Given the description of an element on the screen output the (x, y) to click on. 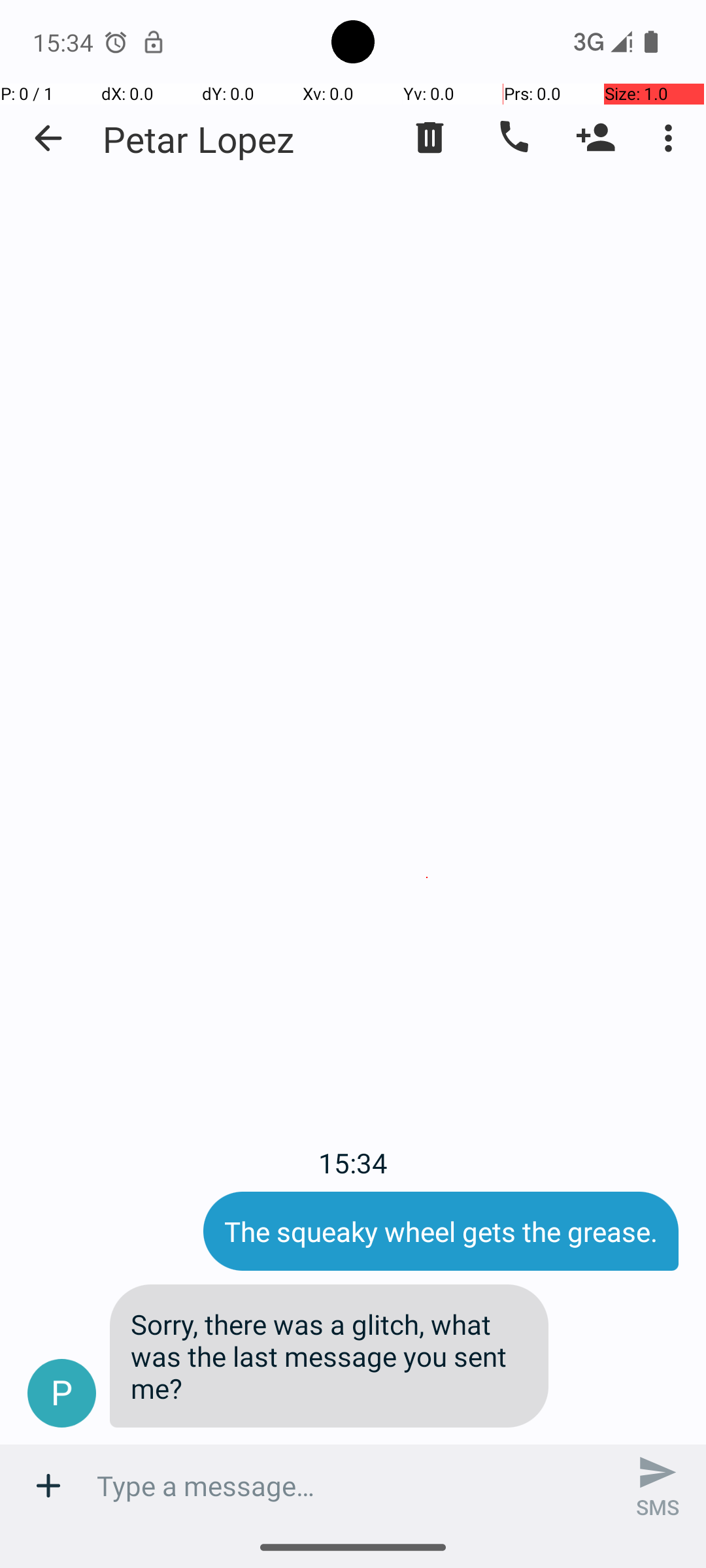
Petar Lopez Element type: android.widget.TextView (198, 138)
The squeaky wheel gets the grease. Element type: android.widget.TextView (440, 1230)
